Given the description of an element on the screen output the (x, y) to click on. 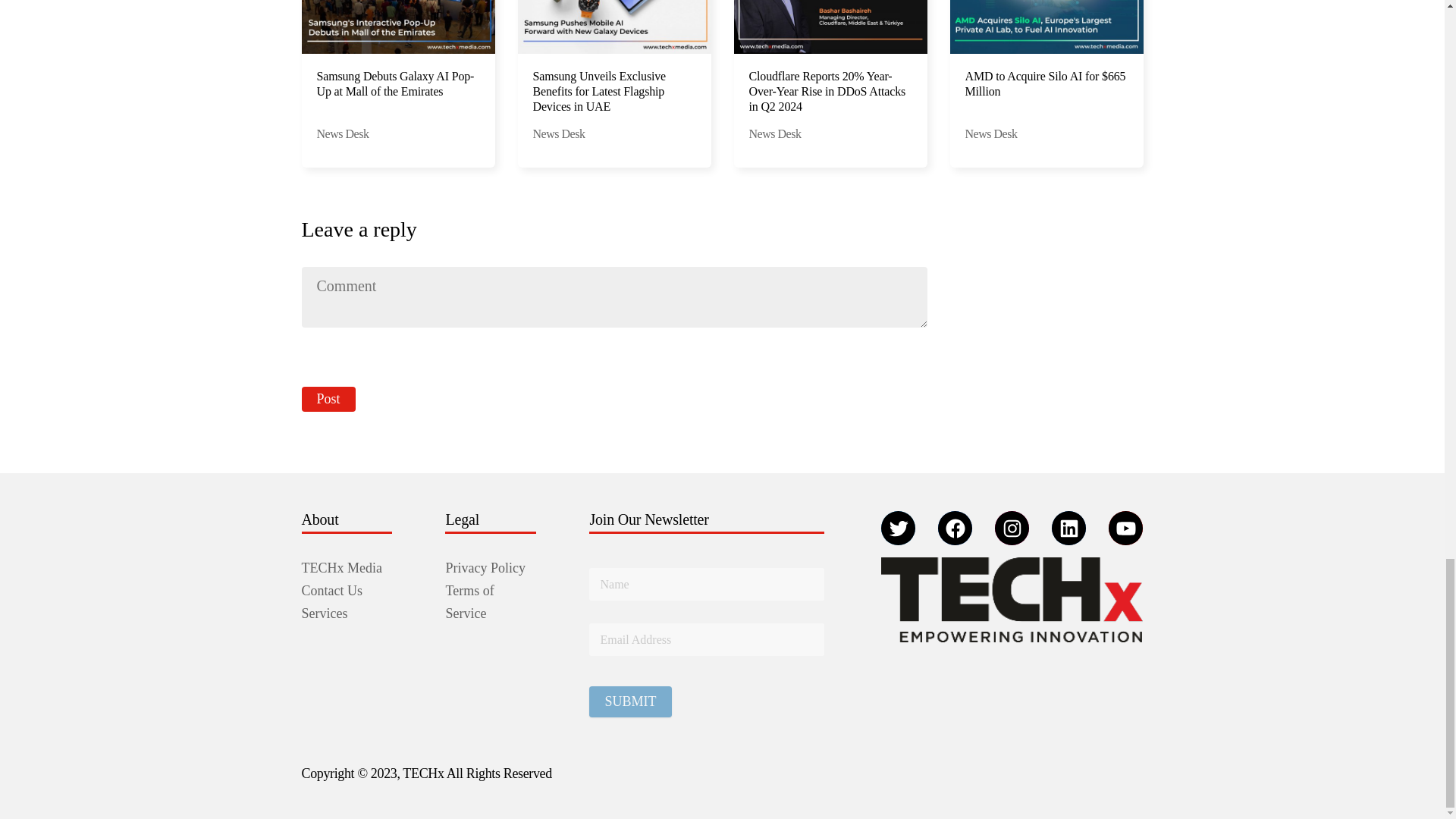
Post (328, 398)
